Given the description of an element on the screen output the (x, y) to click on. 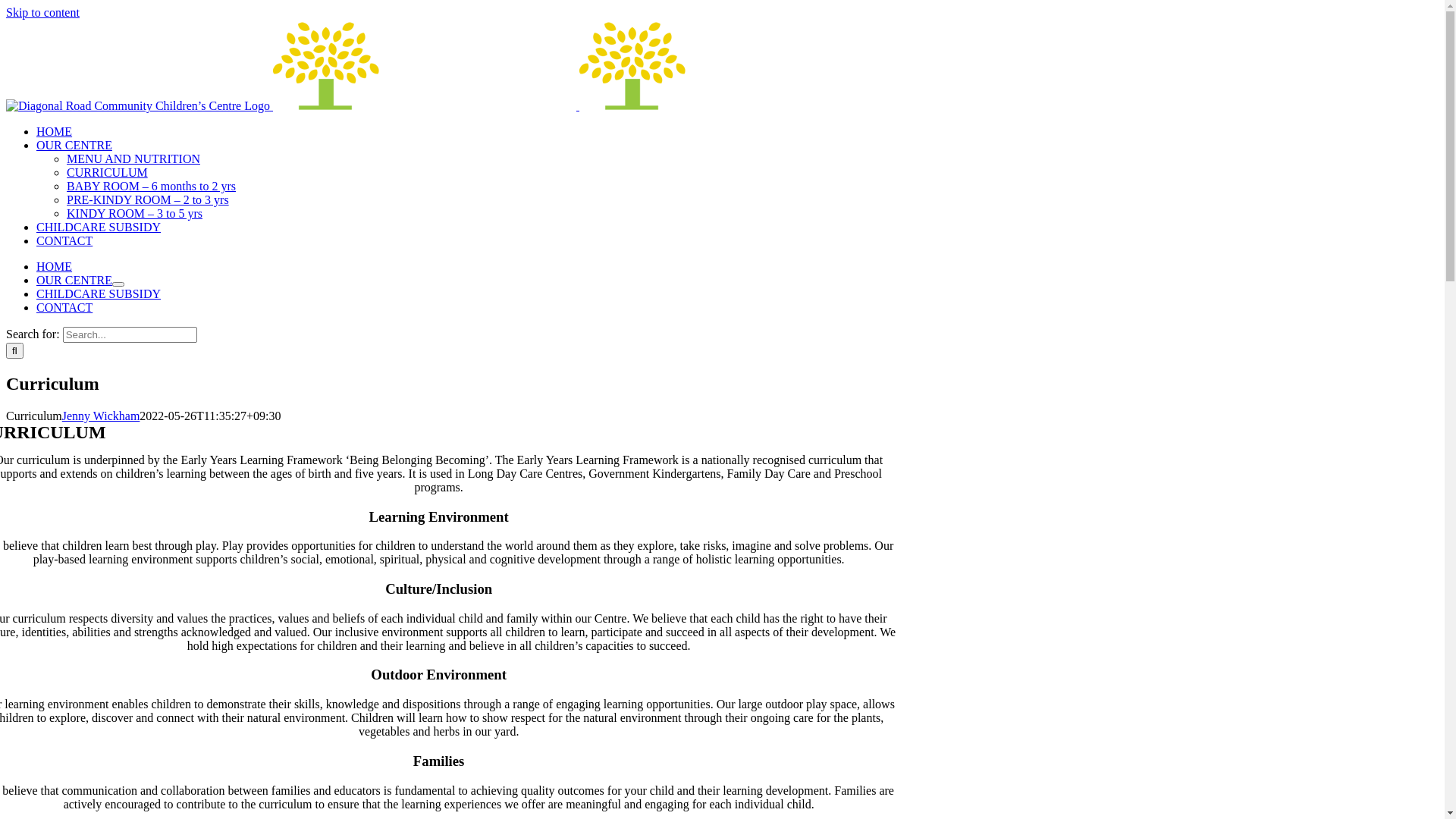
CONTACT Element type: text (64, 307)
OUR CENTRE Element type: text (74, 144)
CONTACT Element type: text (64, 240)
CHILDCARE SUBSIDY Element type: text (98, 293)
Skip to content Element type: text (42, 12)
HOME Element type: text (54, 131)
MENU AND NUTRITION Element type: text (133, 158)
OUR CENTRE Element type: text (74, 279)
Jenny Wickham Element type: text (101, 415)
CURRICULUM Element type: text (106, 172)
HOME Element type: text (54, 266)
CHILDCARE SUBSIDY Element type: text (98, 226)
